Given the description of an element on the screen output the (x, y) to click on. 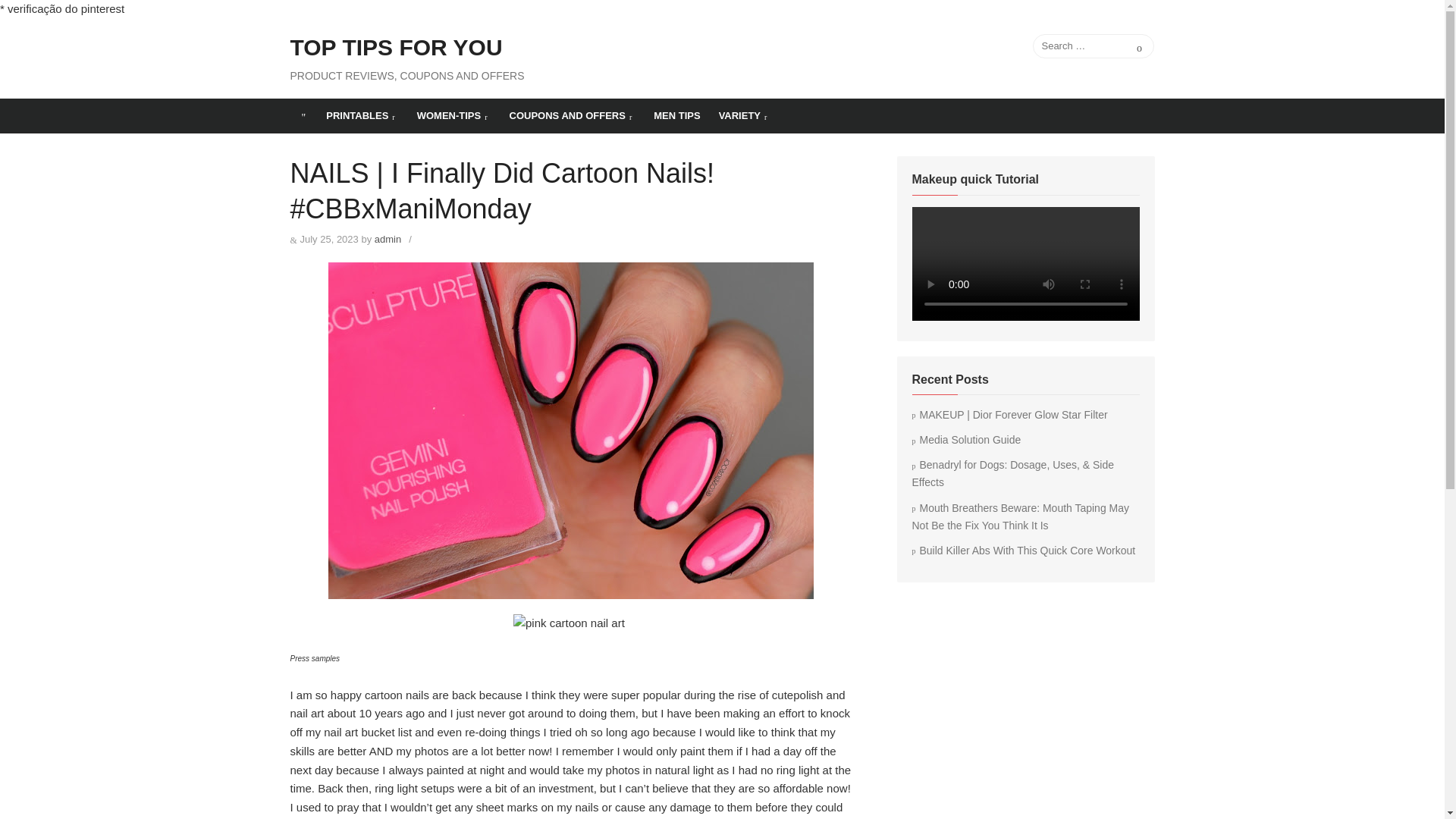
COUPONS AND OFFERS (572, 115)
MEN TIPS (677, 115)
VARIETY (745, 115)
admin (387, 238)
WOMEN-TIPS (453, 115)
TOP TIPS FOR YOU (395, 47)
July 25, 2023 (328, 238)
Media Solution Guide (965, 439)
